Given the description of an element on the screen output the (x, y) to click on. 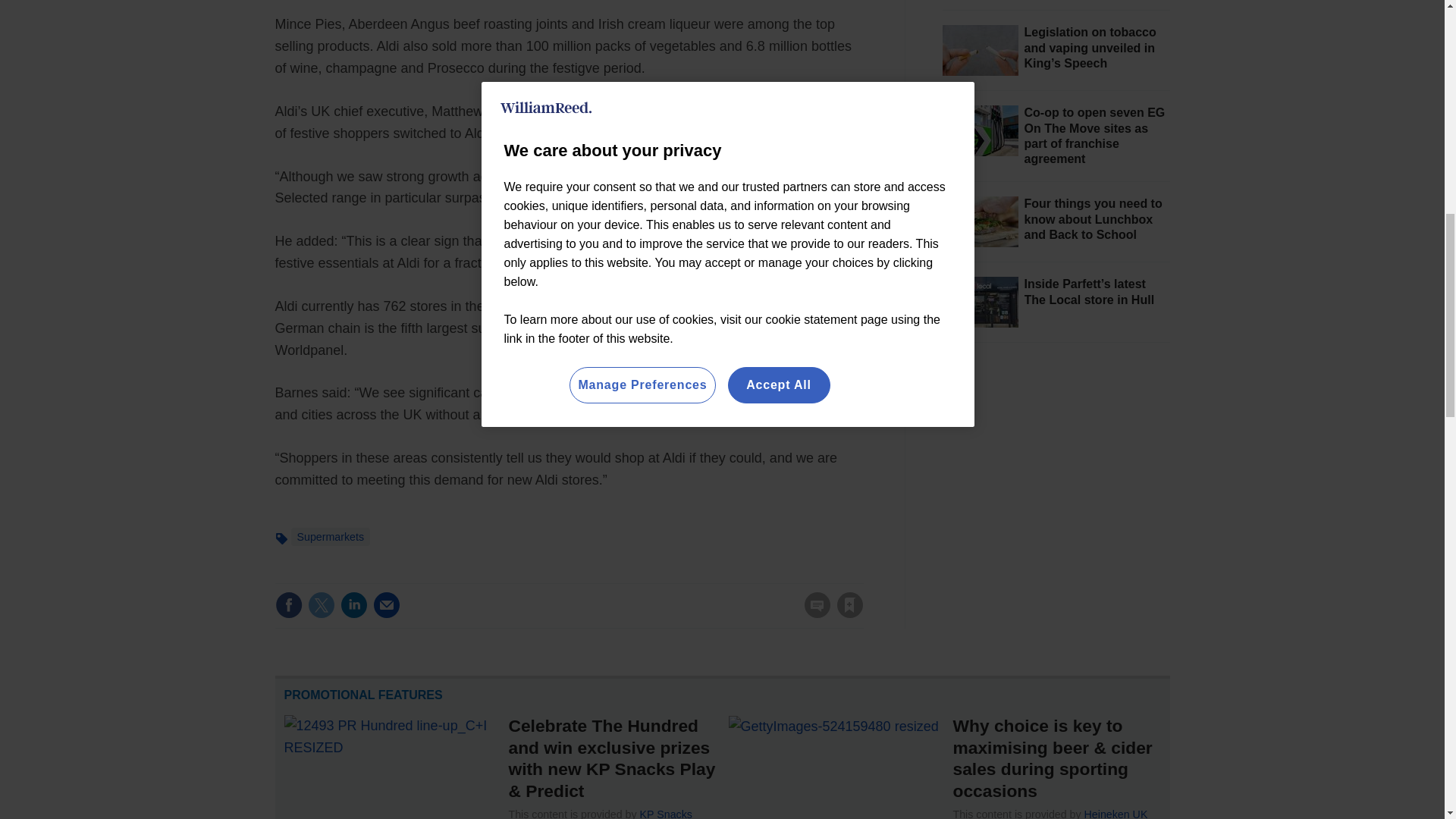
Share this on Twitter (320, 605)
3rd party ad content (1055, 473)
Email this article (386, 605)
Share this on Facebook (288, 605)
No comments (812, 613)
Share this on Linked in (352, 605)
